Given the description of an element on the screen output the (x, y) to click on. 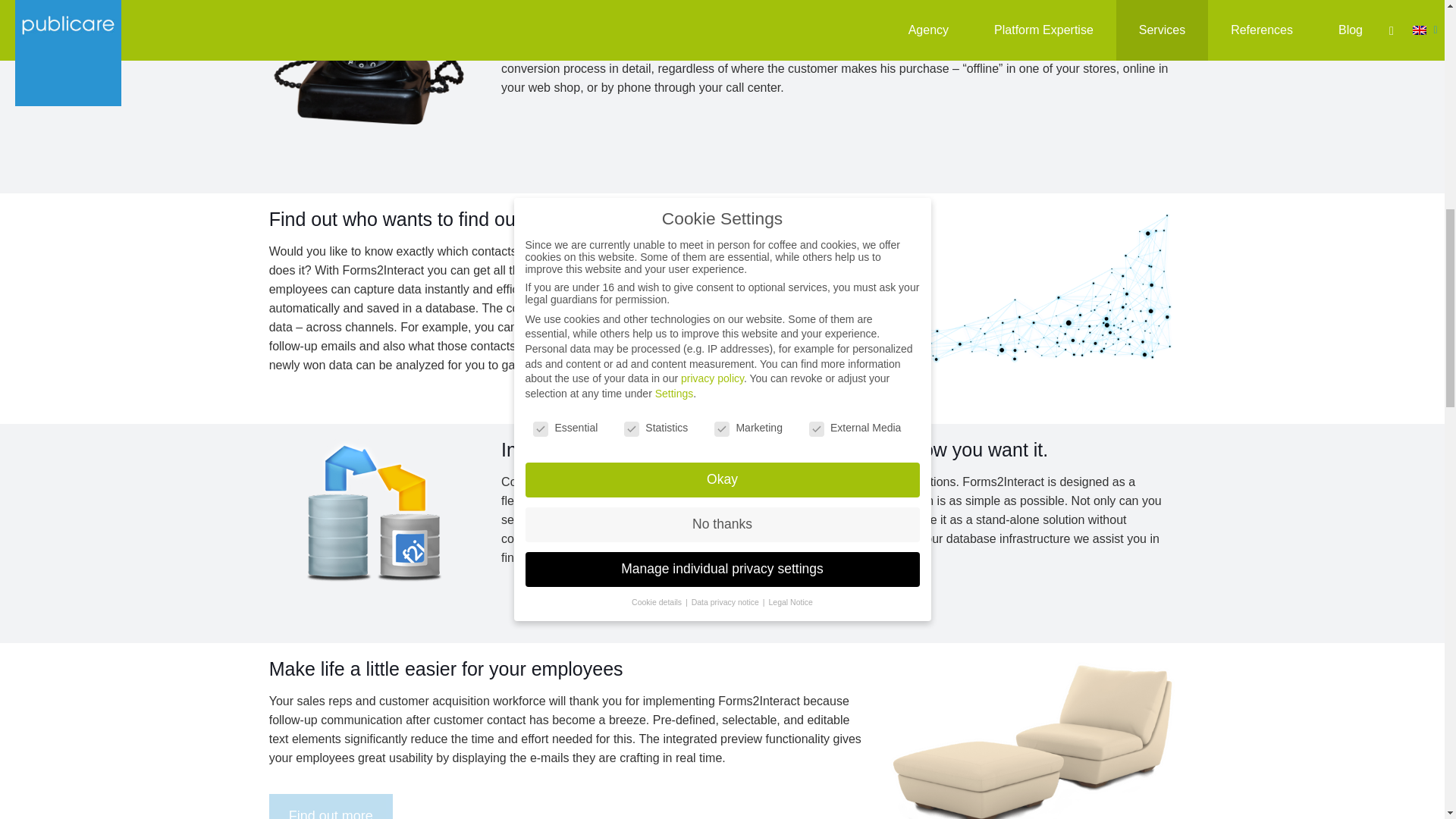
f2i (373, 510)
Netzwerk (1000, 285)
Liege (1032, 738)
